Given the description of an element on the screen output the (x, y) to click on. 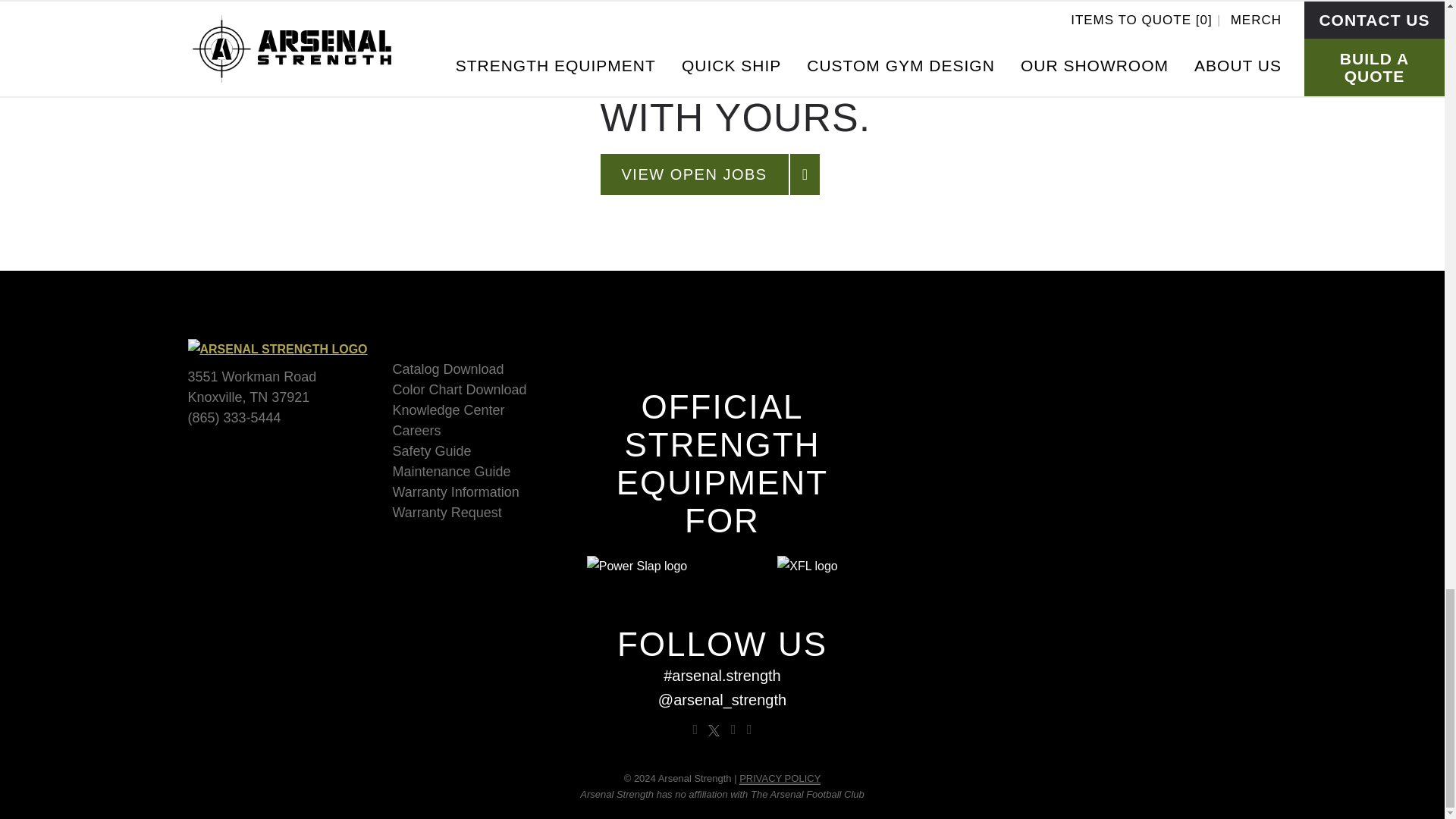
Arsenal Strength logo (277, 349)
